Given the description of an element on the screen output the (x, y) to click on. 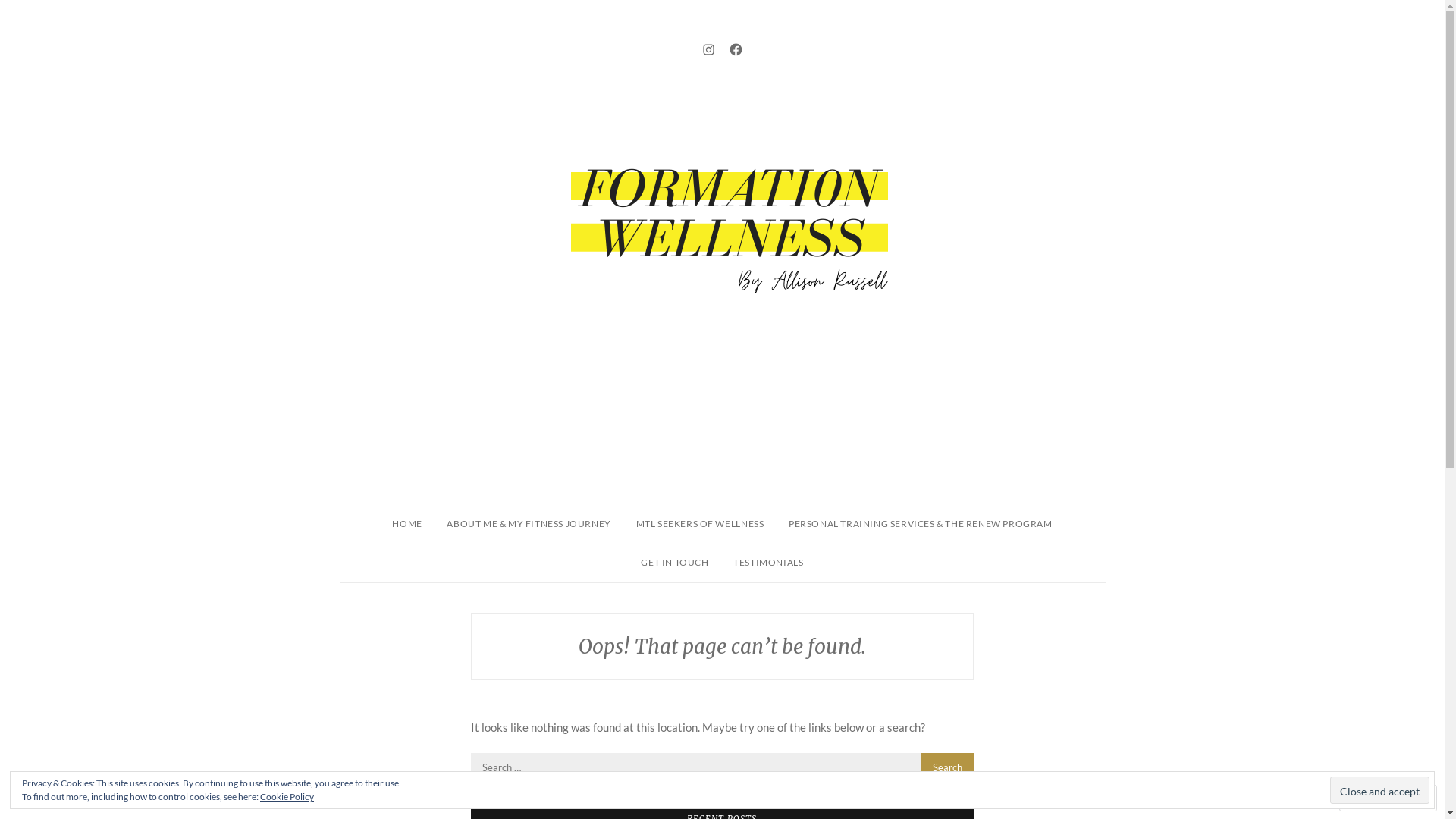
Search Element type: text (947, 766)
Follow Element type: text (1373, 797)
TESTIMONIALS Element type: text (767, 562)
MTL SEEKERS OF WELLNESS Element type: text (699, 523)
PERSONAL TRAINING SERVICES & THE RENEW PROGRAM Element type: text (920, 523)
HOME Element type: text (406, 523)
Close and accept Element type: text (1379, 789)
Cookie Policy Element type: text (286, 796)
GET IN TOUCH Element type: text (674, 562)
ABOUT ME & MY FITNESS JOURNEY Element type: text (528, 523)
